Given the description of an element on the screen output the (x, y) to click on. 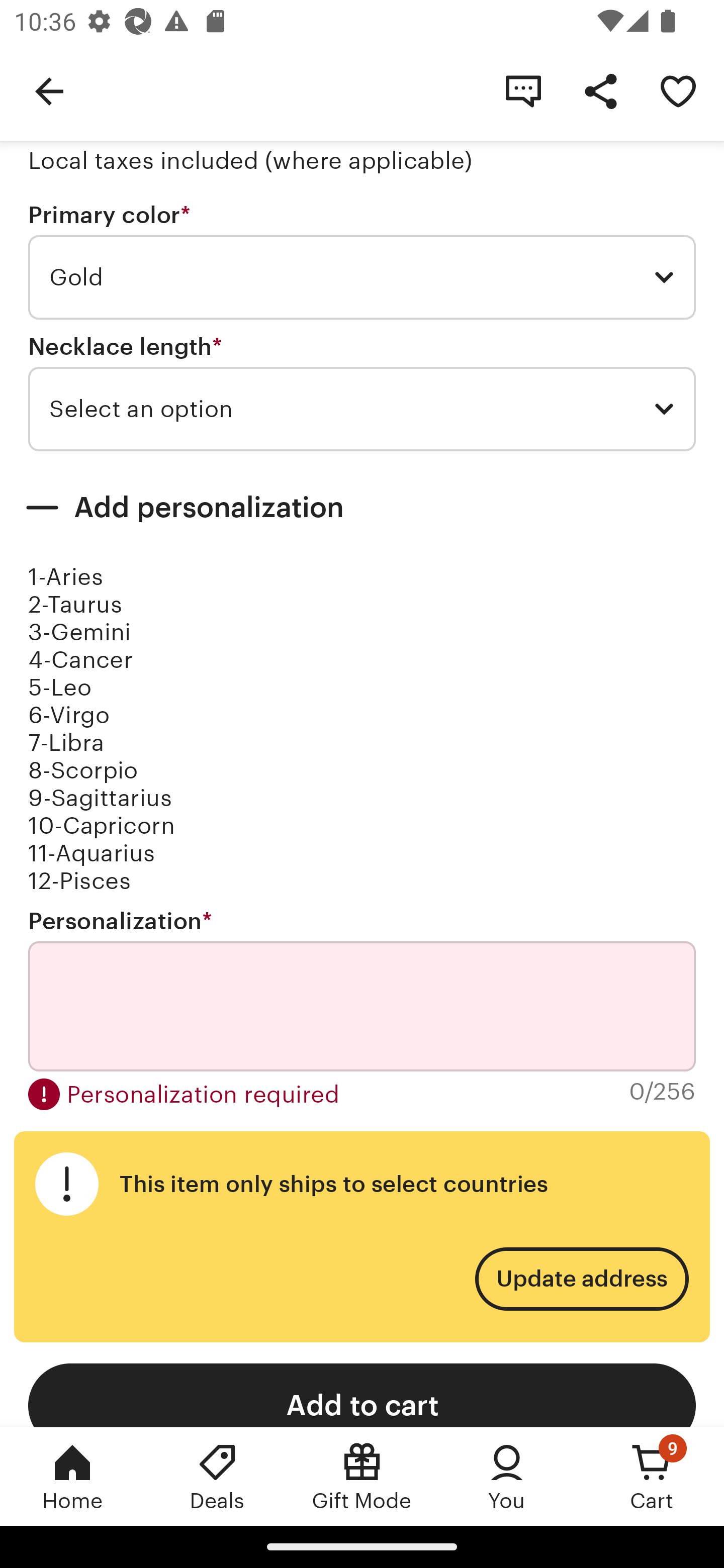
Navigate up (49, 90)
Contact shop (523, 90)
Share (600, 90)
Primary color * Required Gold (361, 260)
Gold (361, 277)
Necklace length * Required Select an option (361, 392)
Select an option (361, 408)
Add personalization Add personalization Required (362, 507)
Update address (581, 1279)
Add to cart (361, 1395)
Deals (216, 1475)
Gift Mode (361, 1475)
You (506, 1475)
Cart, 9 new notifications Cart (651, 1475)
